Given the description of an element on the screen output the (x, y) to click on. 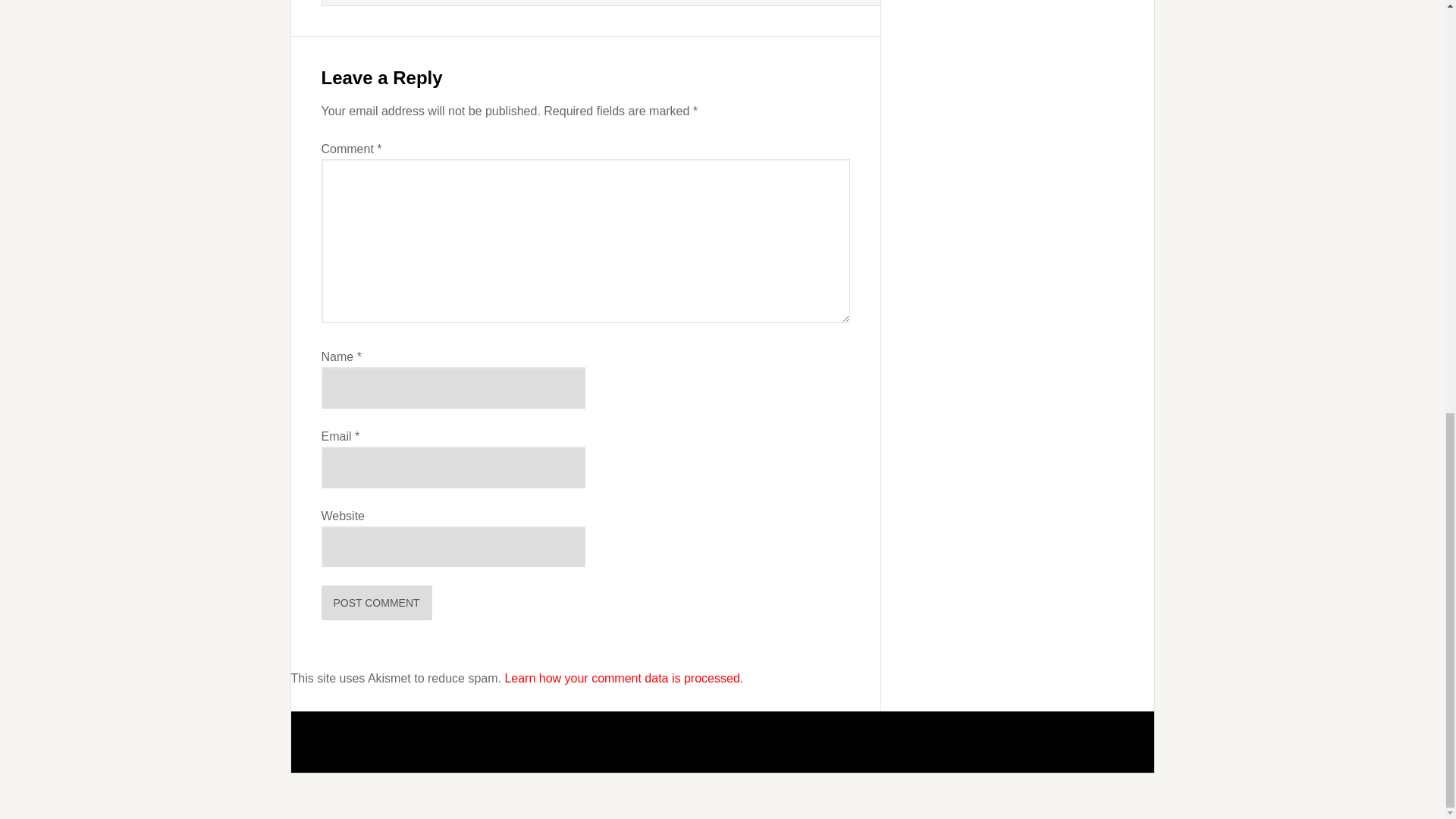
Post Comment (376, 602)
Learn how your comment data is processed (621, 677)
Post Comment (376, 602)
